Given the description of an element on the screen output the (x, y) to click on. 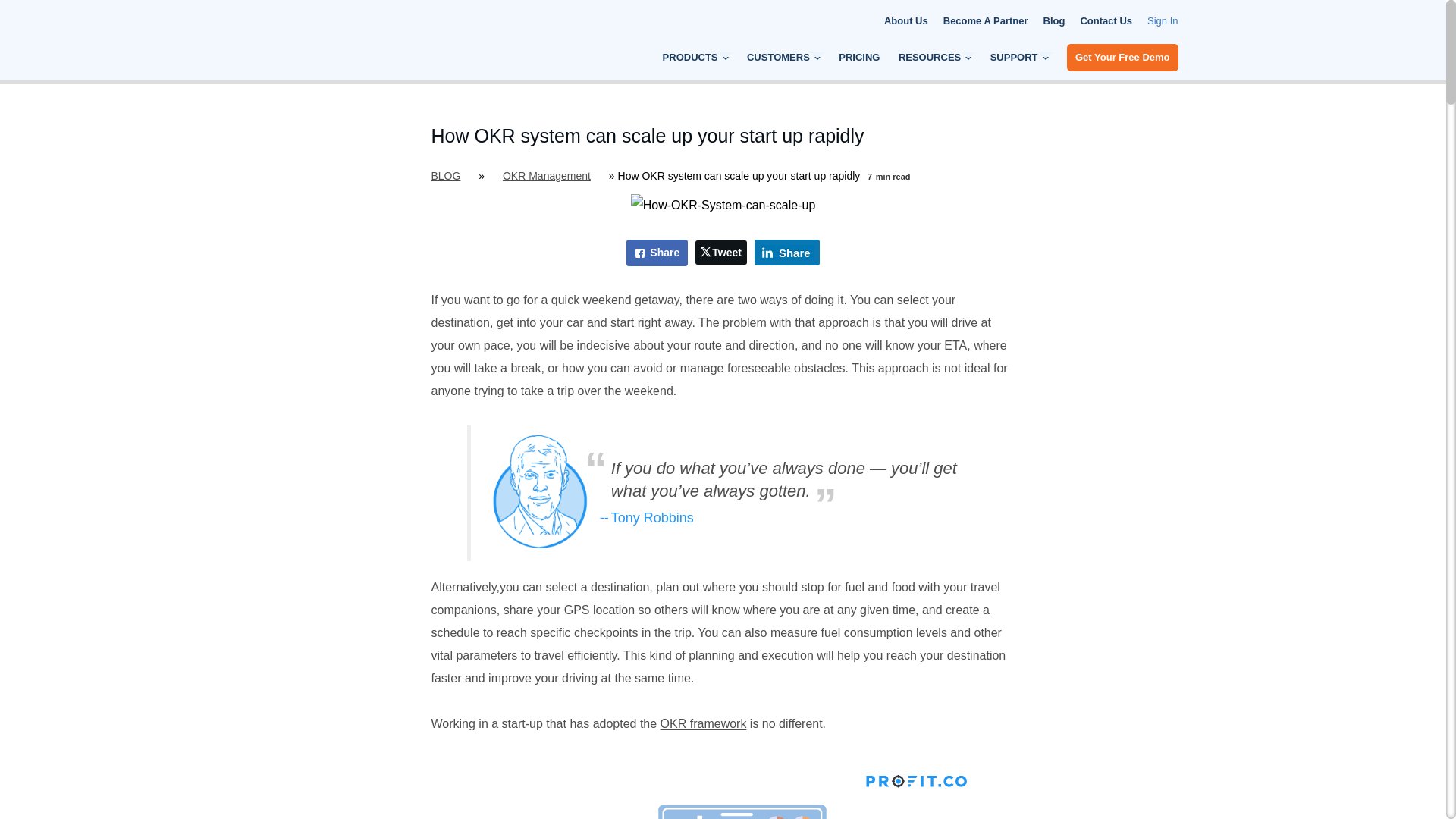
Contact Us (1105, 20)
BLOG (445, 175)
About Us (906, 20)
Profit.co (343, 61)
RESOURCES (934, 58)
OKR Management (546, 175)
PRICING (858, 58)
Become A Partner (985, 20)
PRODUCTS (695, 58)
